Given the description of an element on the screen output the (x, y) to click on. 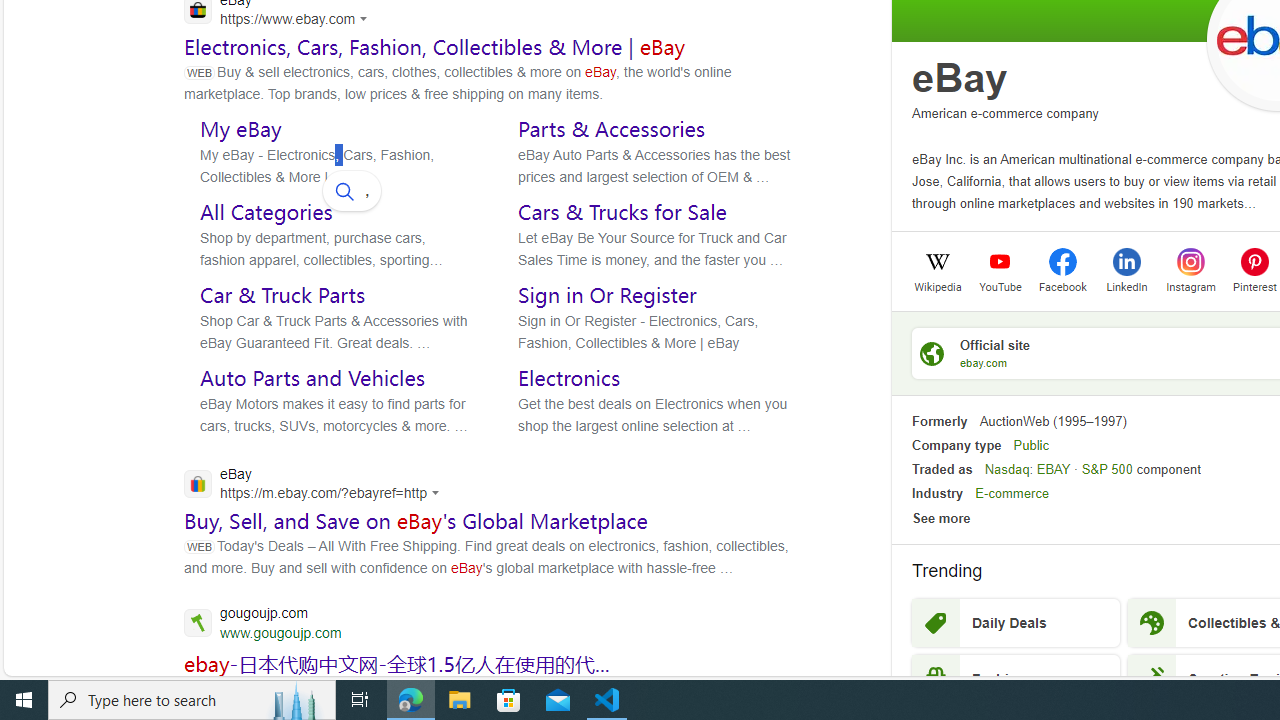
Daily Deals (1015, 623)
Buy, Sell, and Save on eBay's Global Marketplace (415, 521)
Parts & Accessories (612, 128)
Fashion (1015, 678)
Company type (956, 444)
Fashion (1015, 678)
Nasdaq (1007, 469)
Cars & Trucks for Sale (622, 211)
